Given the description of an element on the screen output the (x, y) to click on. 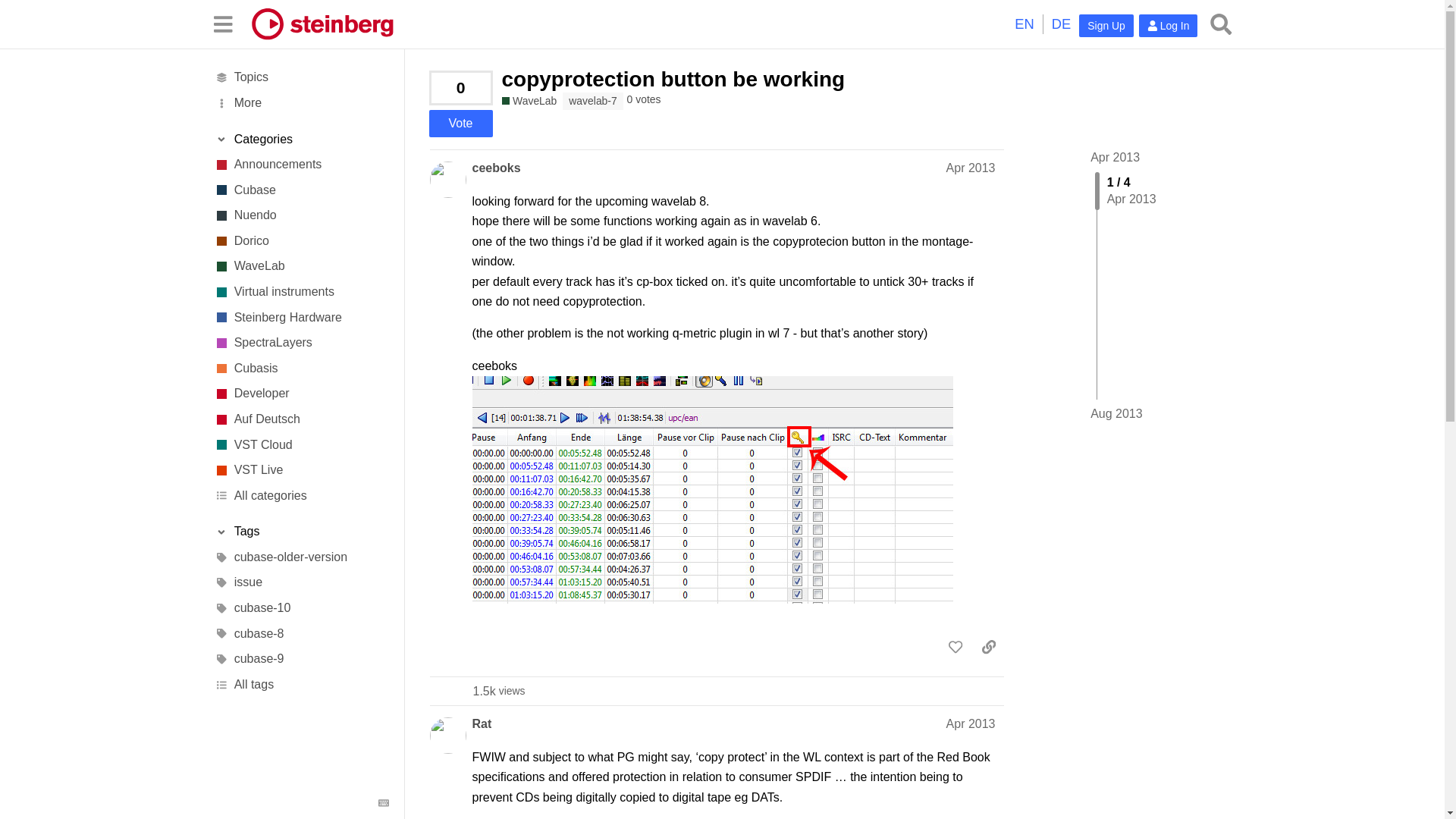
Advanced Live Performance System. (301, 470)
Announcements (301, 164)
copyprotection button be working (673, 78)
cubase-8 (301, 633)
Dorico (301, 240)
Tags (301, 532)
VST Cloud (301, 444)
All categories (301, 495)
Categories (301, 139)
Cubasis (301, 368)
The number one mastering and audio editing software. (301, 266)
Log In (1168, 25)
cubase-older-version (301, 557)
Toggle section (301, 139)
Professional music notation and composition software. (301, 240)
